Given the description of an element on the screen output the (x, y) to click on. 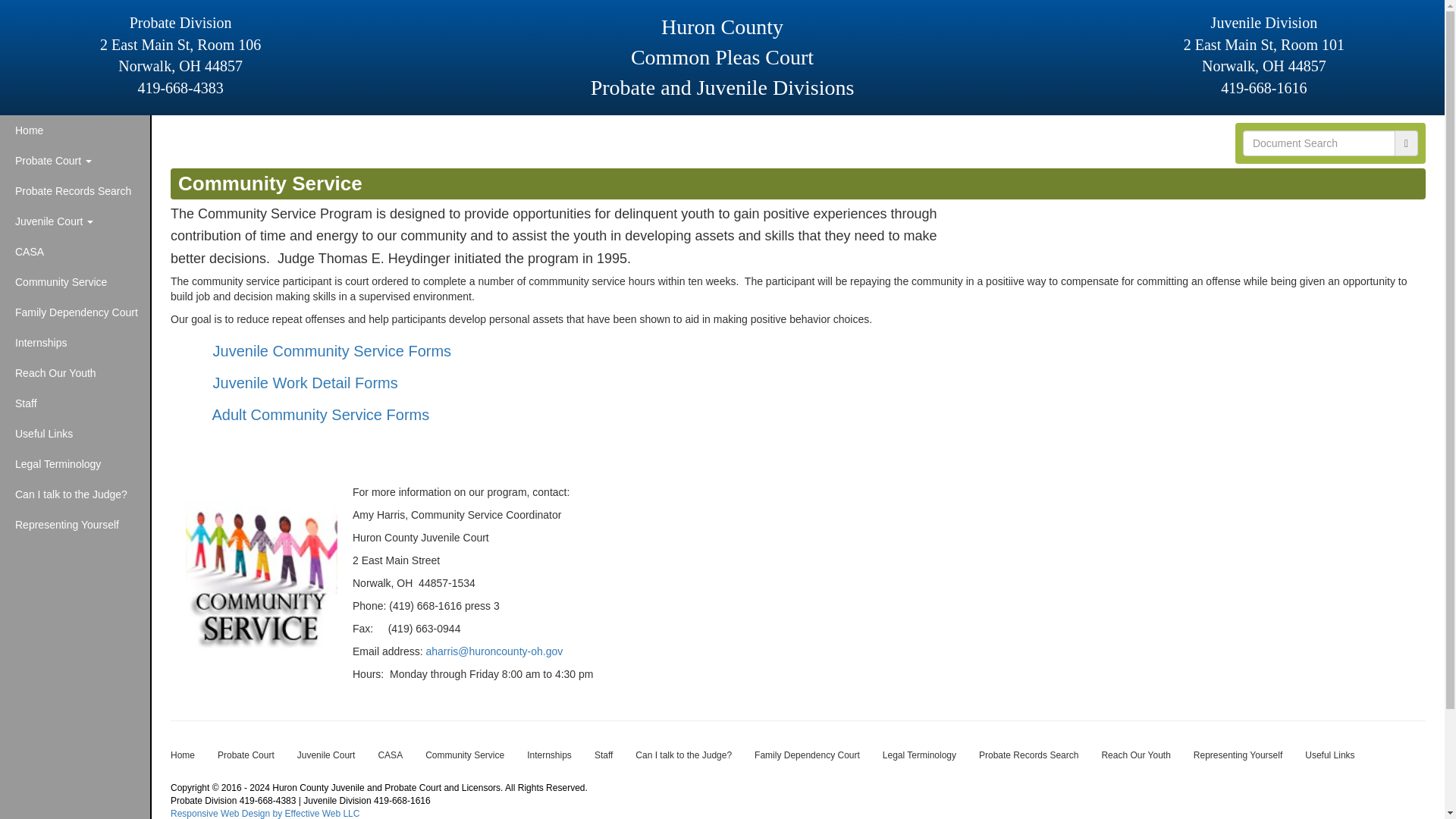
Internships (74, 342)
Adult Community Service Forms (320, 414)
Staff (74, 403)
Probate Records Search (74, 191)
Representing Yourself (74, 524)
Useful Links (74, 433)
Reach Our Youth (74, 372)
Juvenile Court (74, 221)
Community Service (74, 281)
Home (182, 754)
